Given the description of an element on the screen output the (x, y) to click on. 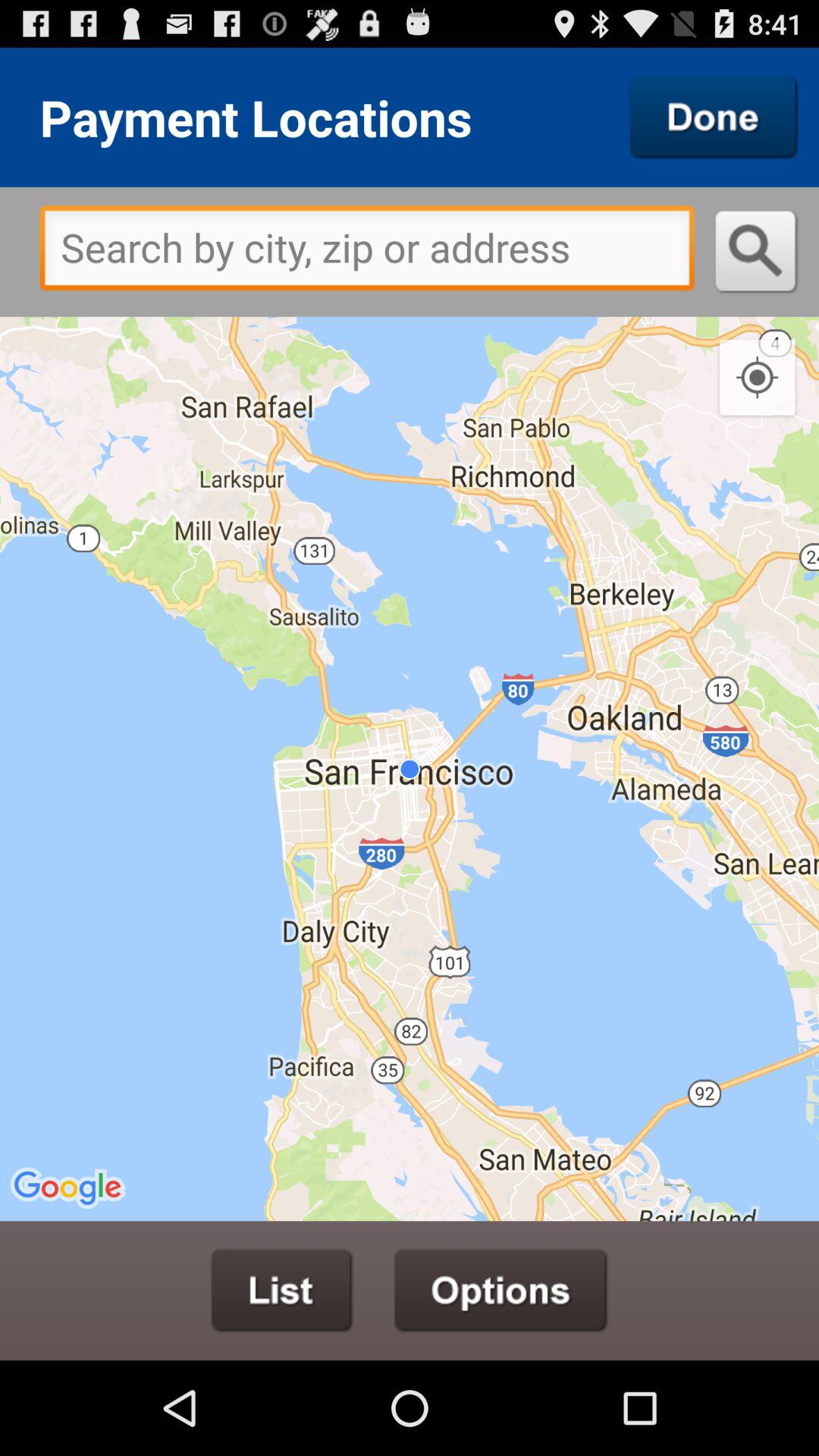
see a list of places (281, 1290)
